Given the description of an element on the screen output the (x, y) to click on. 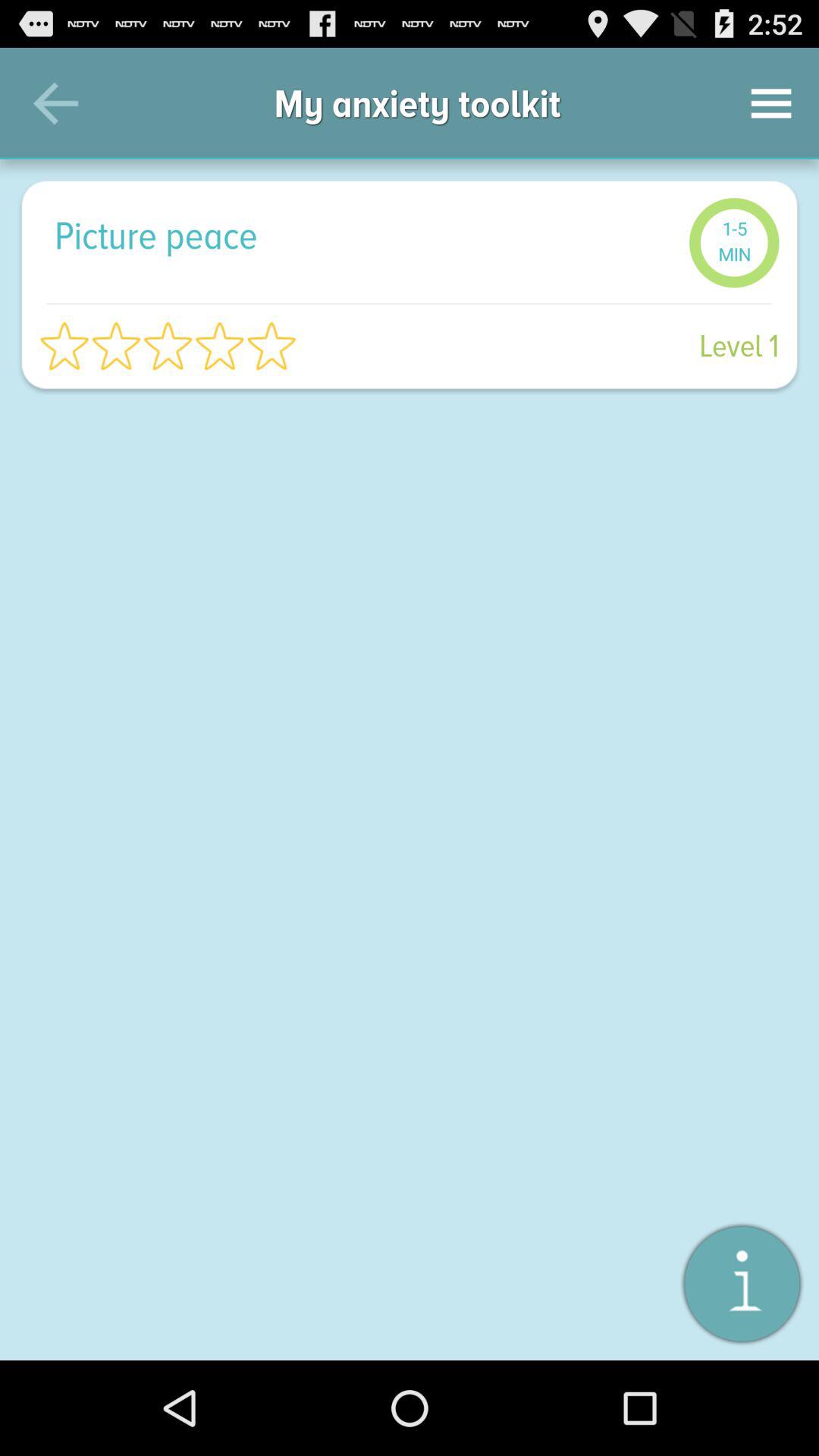
launch picture peace (363, 235)
